Given the description of an element on the screen output the (x, y) to click on. 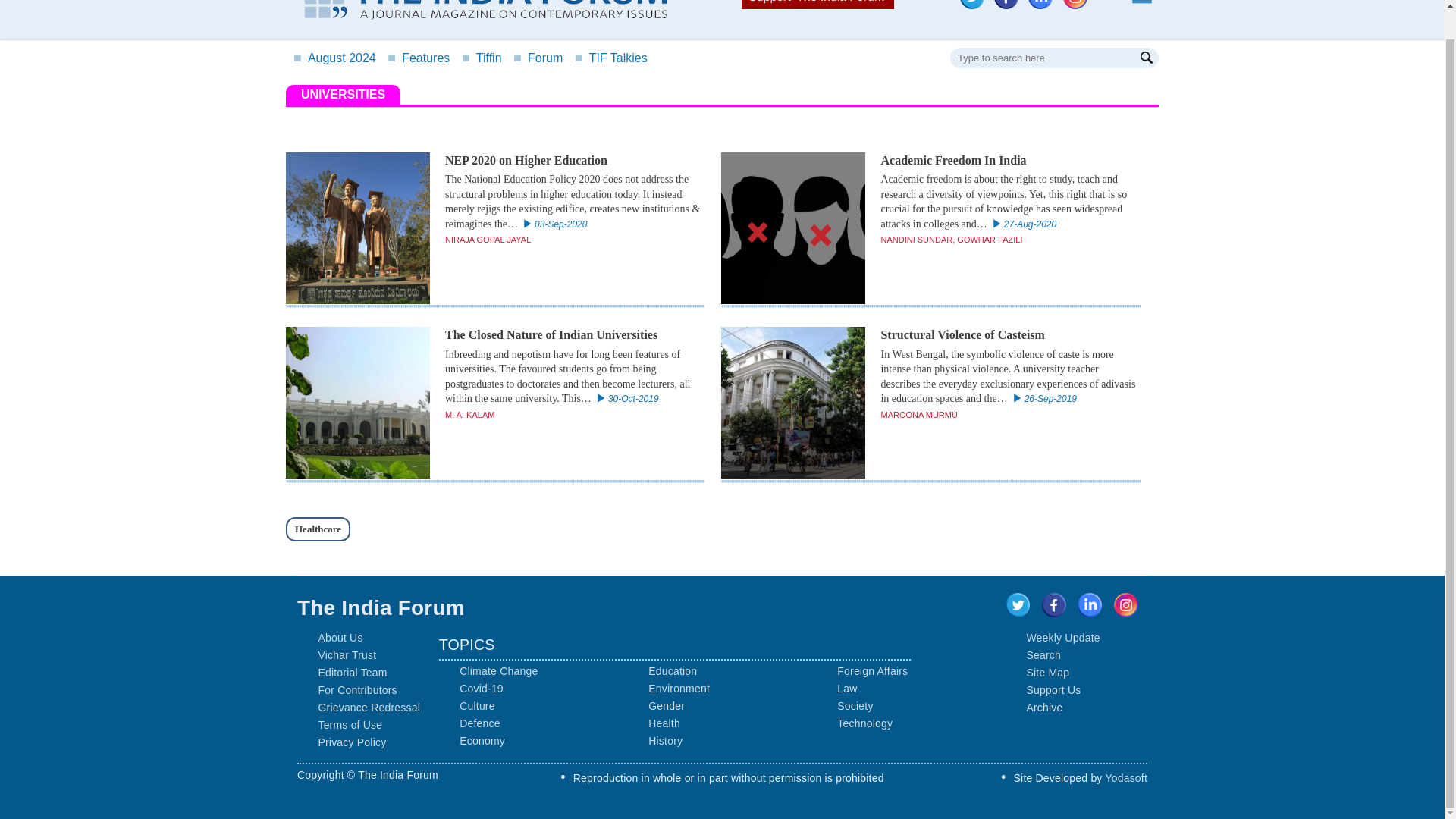
Linkedin (1039, 4)
Facebook (1010, 5)
Facebook (1005, 4)
Instagram (1078, 5)
The India Forum (477, 9)
Twitter (975, 5)
Menu (1141, 4)
Twitter (971, 4)
Instagram (1074, 4)
Home (477, 12)
Linkedin (1043, 5)
